Given the description of an element on the screen output the (x, y) to click on. 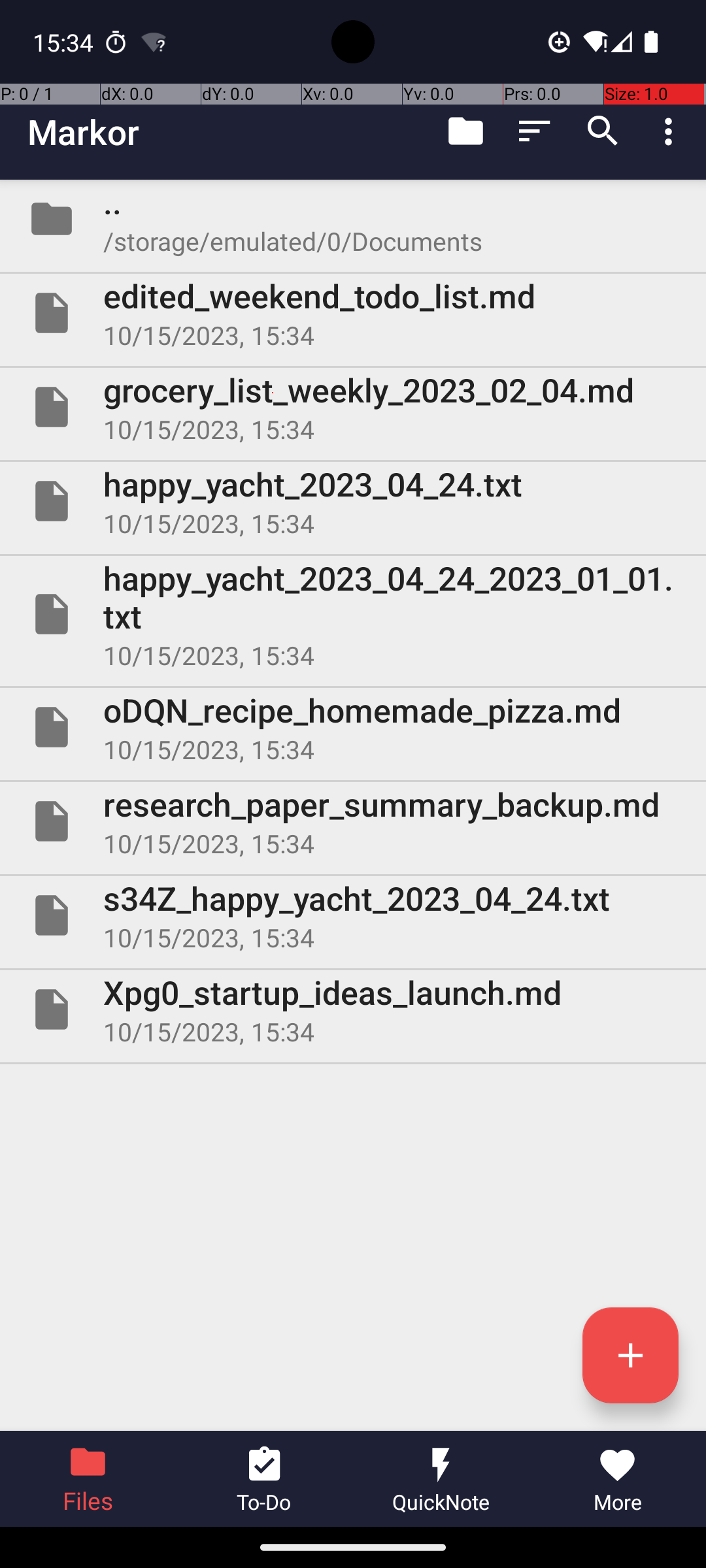
File edited_weekend_todo_list.md  Element type: android.widget.LinearLayout (353, 312)
File grocery_list_weekly_2023_02_04.md  Element type: android.widget.LinearLayout (353, 406)
File happy_yacht_2023_04_24.txt  Element type: android.widget.LinearLayout (353, 500)
File happy_yacht_2023_04_24_2023_01_01.txt  Element type: android.widget.LinearLayout (353, 613)
File oDQN_recipe_homemade_pizza.md  Element type: android.widget.LinearLayout (353, 726)
File research_paper_summary_backup.md  Element type: android.widget.LinearLayout (353, 821)
File s34Z_happy_yacht_2023_04_24.txt  Element type: android.widget.LinearLayout (353, 915)
File Xpg0_startup_ideas_launch.md  Element type: android.widget.LinearLayout (353, 1009)
